Given the description of an element on the screen output the (x, y) to click on. 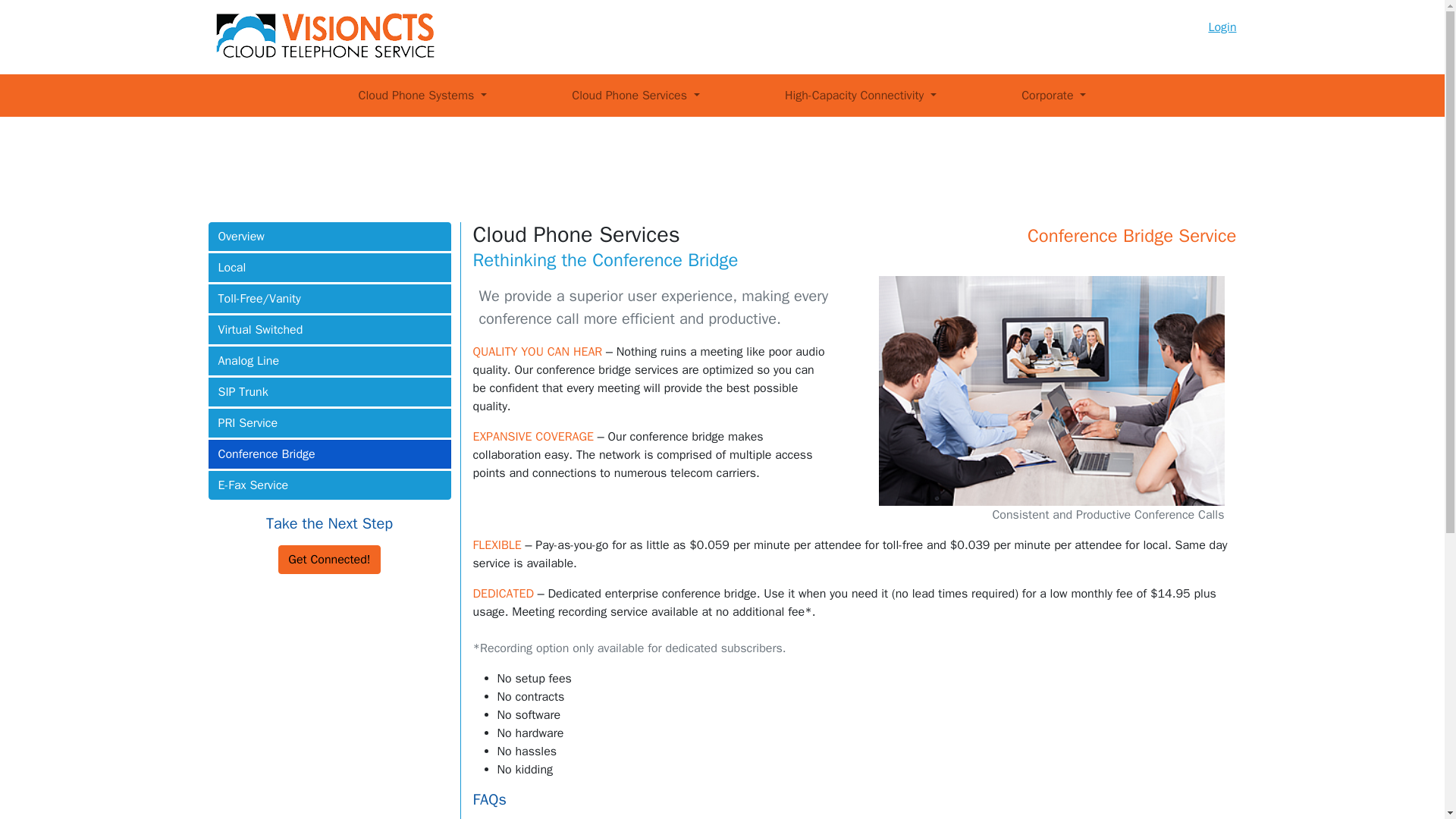
SIP Trunk (328, 391)
Get Connected! (329, 559)
Cloud Phone Services (636, 95)
Conference Bridge (328, 453)
Corporate (1053, 95)
Analog Line (328, 360)
Cloud Phone Systems (422, 95)
Virtual Switched (328, 329)
Local (328, 267)
Login (1222, 27)
